Given the description of an element on the screen output the (x, y) to click on. 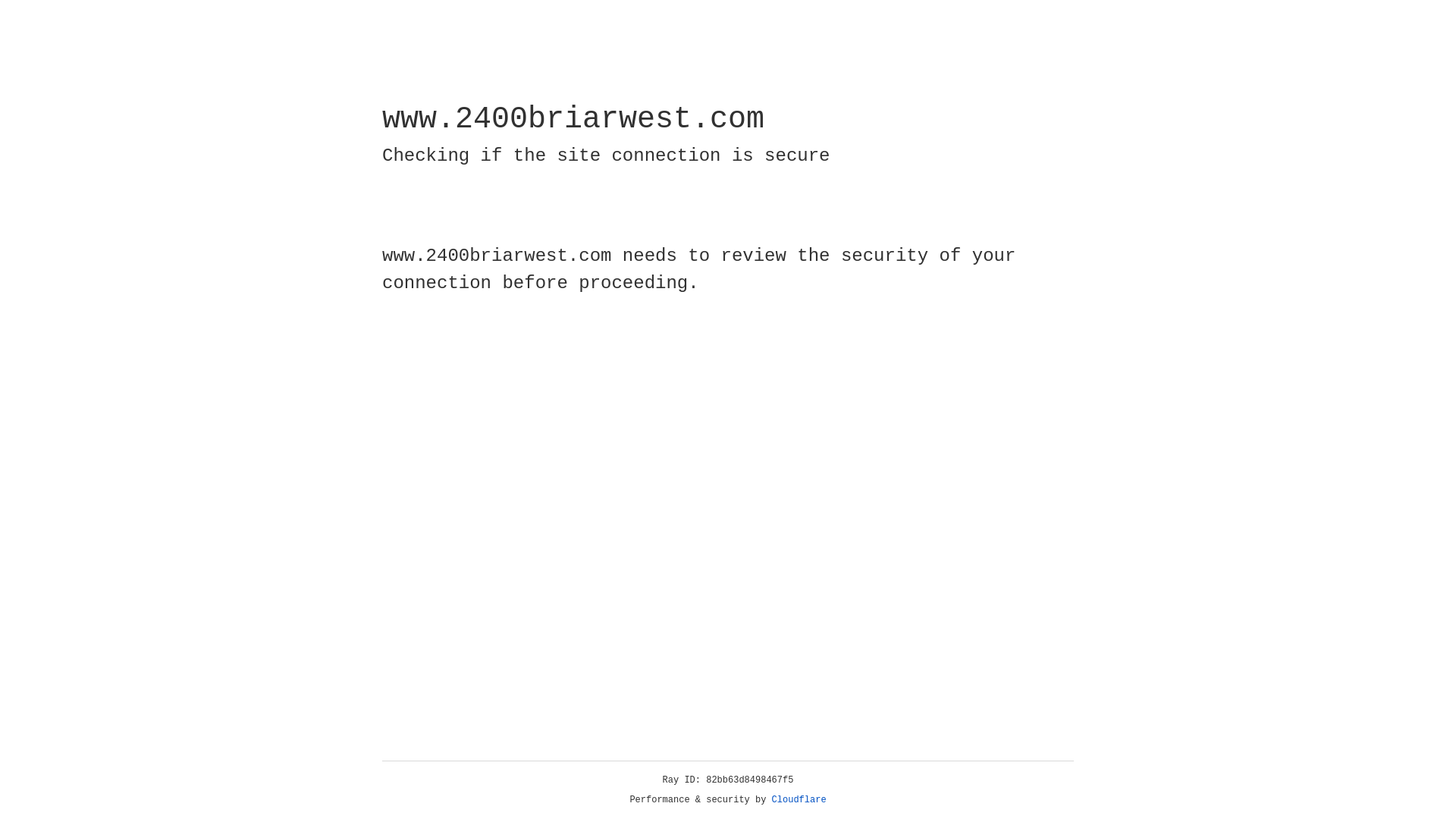
Cloudflare Element type: text (798, 799)
